Given the description of an element on the screen output the (x, y) to click on. 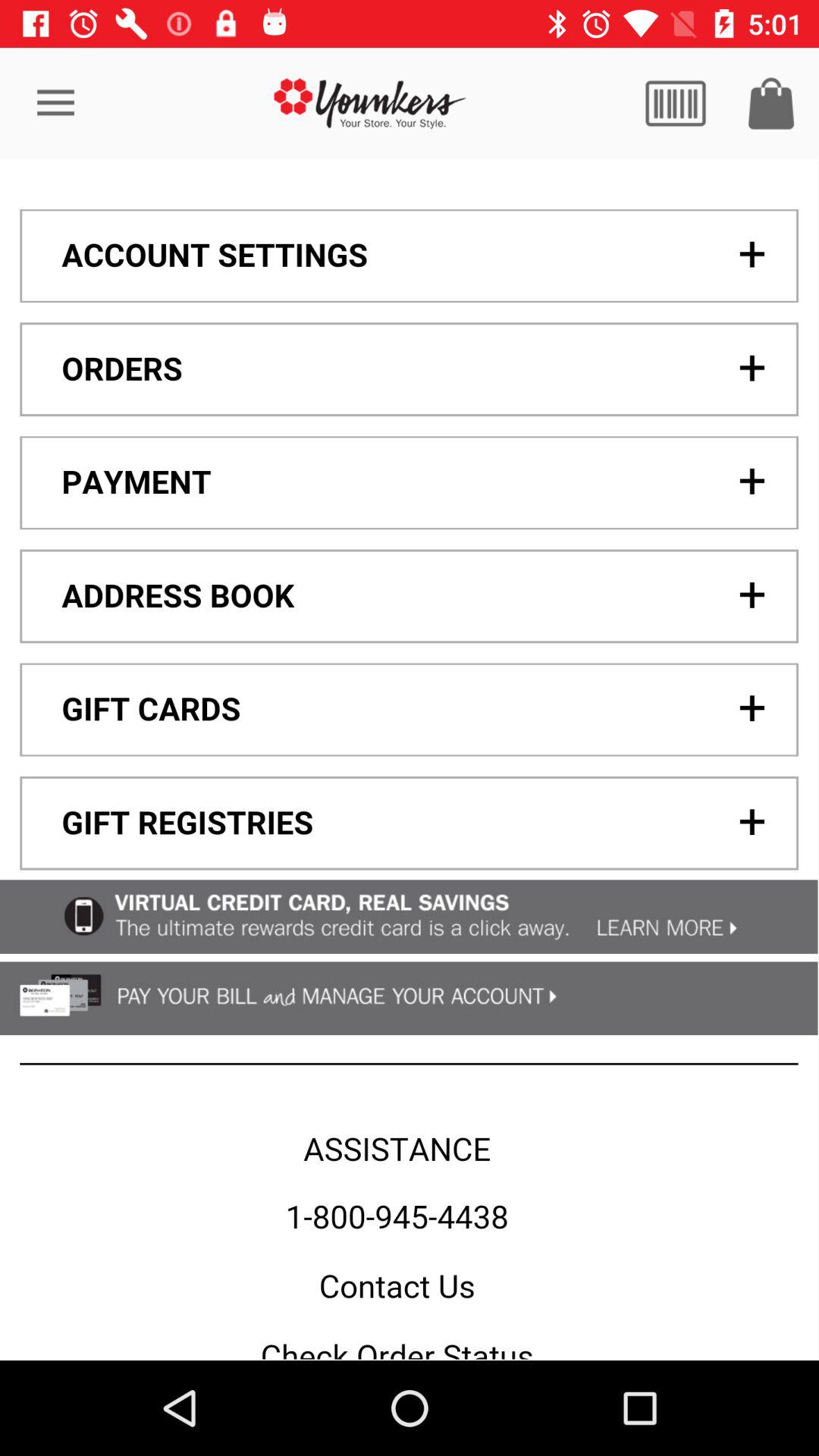
menu options (408, 759)
